Given the description of an element on the screen output the (x, y) to click on. 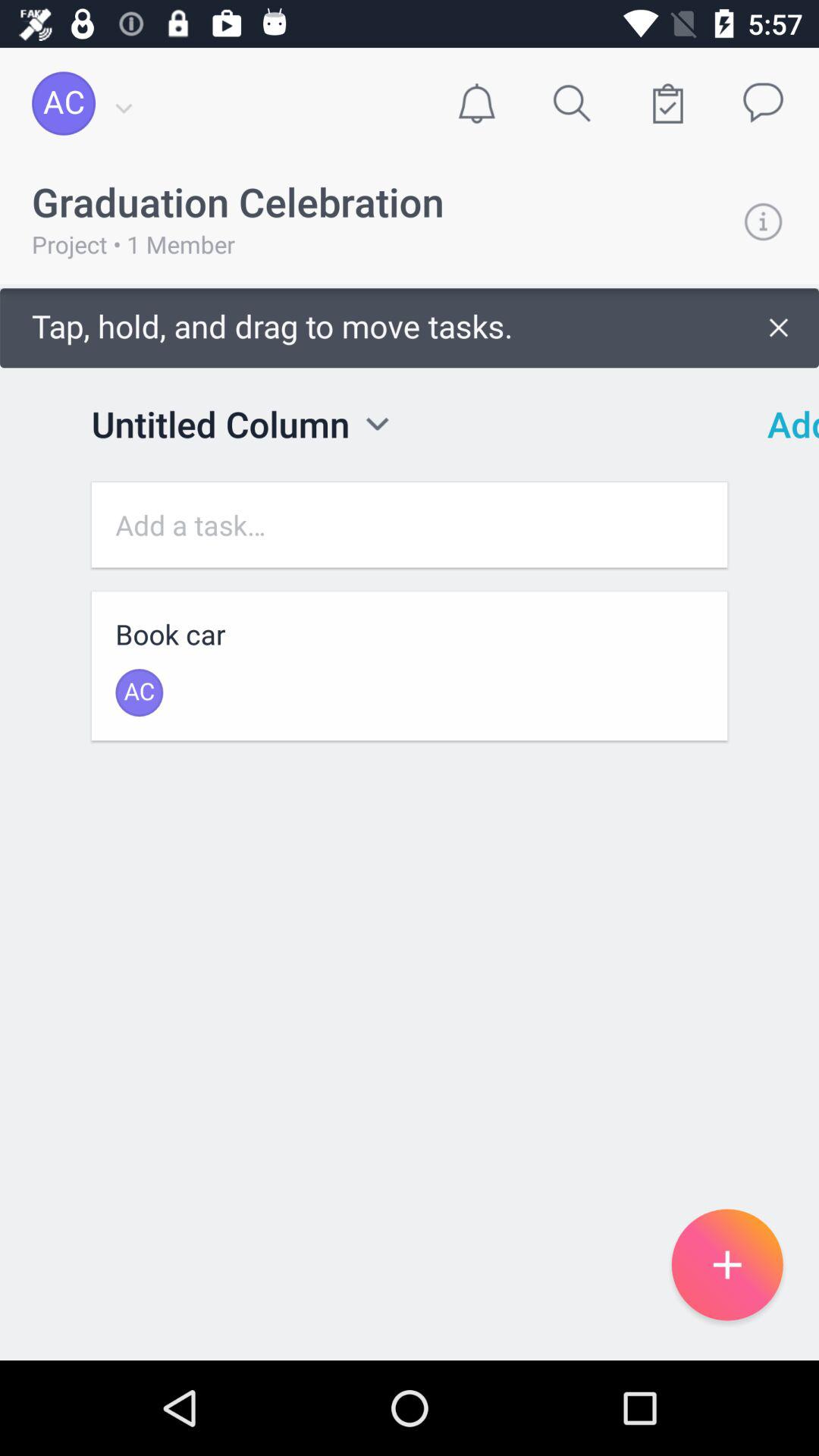
information (763, 221)
